Given the description of an element on the screen output the (x, y) to click on. 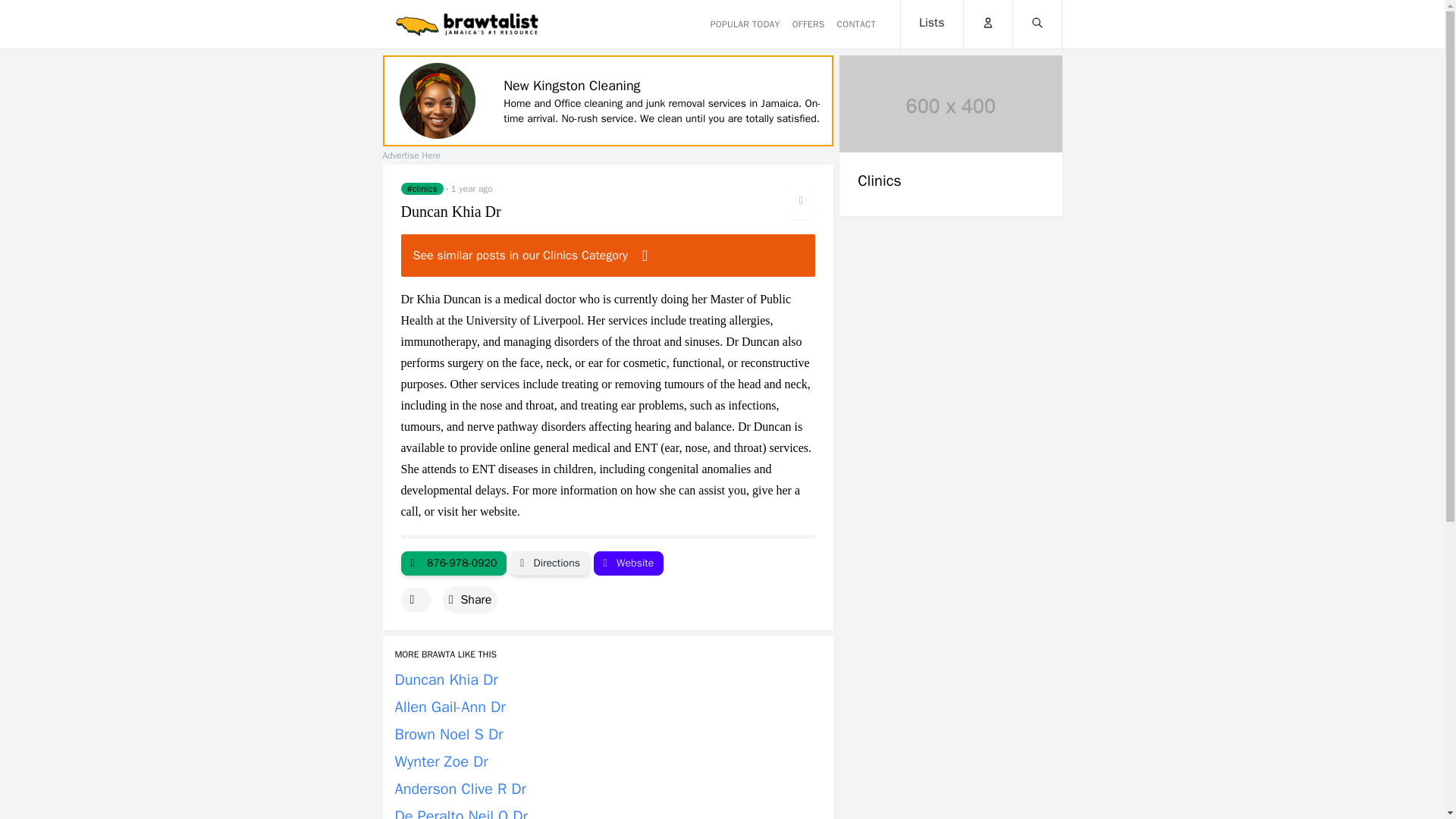
De Peralto Neil O Dr (460, 812)
Go to Clinics (421, 188)
 Website (628, 563)
Click to Call (453, 563)
Search (1037, 24)
POPULAR TODAY (745, 24)
  876-978-0920 (453, 563)
Account (986, 24)
Like (414, 599)
Share (469, 599)
Advertise Here (410, 155)
See similar posts in our Clinics Category     (607, 255)
Wynter Zoe Dr (440, 761)
